Given the description of an element on the screen output the (x, y) to click on. 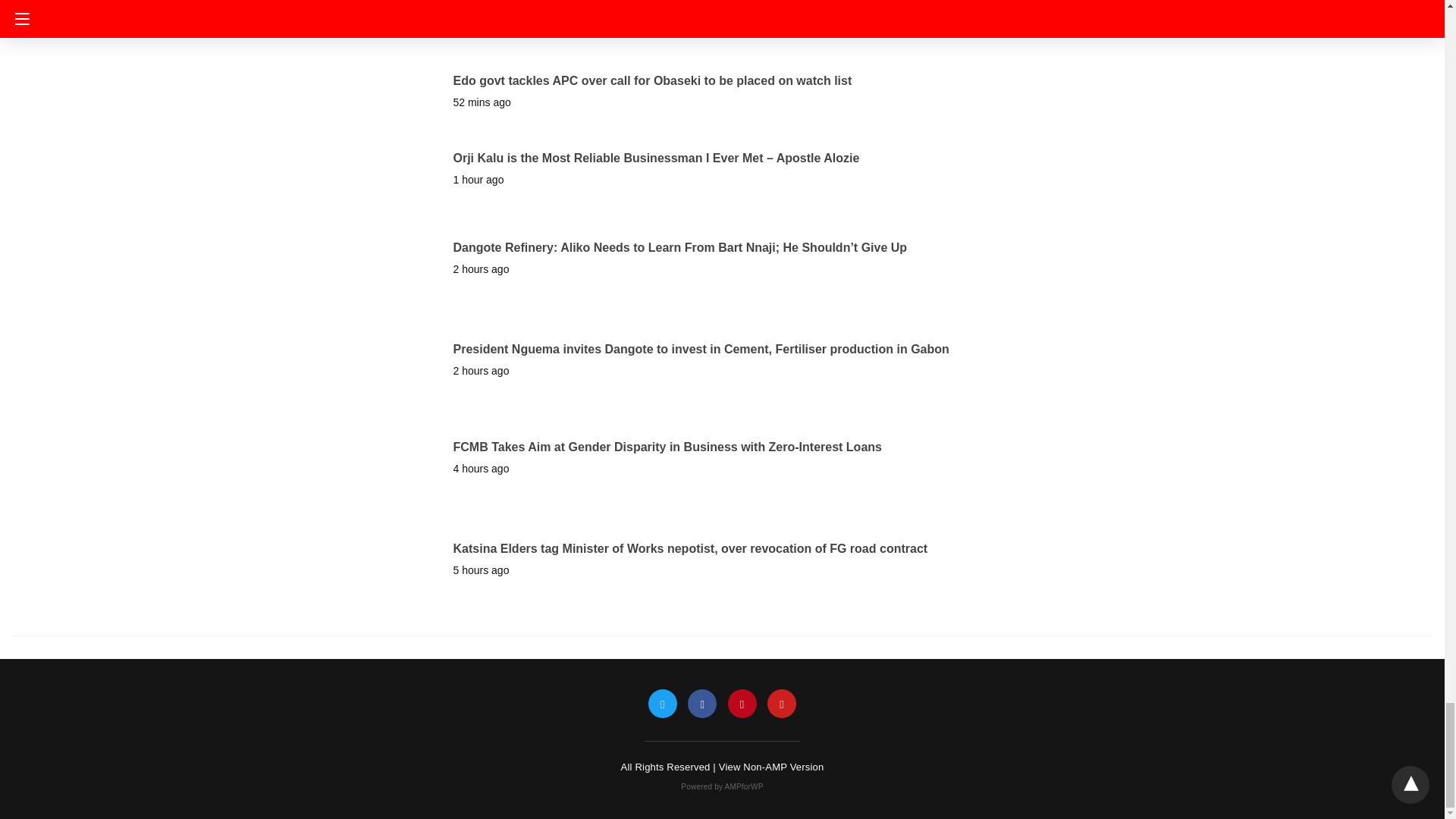
Gunmen abduct 2 Chinese, kill 5 Nigerians in Lokoka (605, 6)
Gunmen abduct 2 Chinese, kill 5 Nigerians in Lokoka (605, 6)
